Given the description of an element on the screen output the (x, y) to click on. 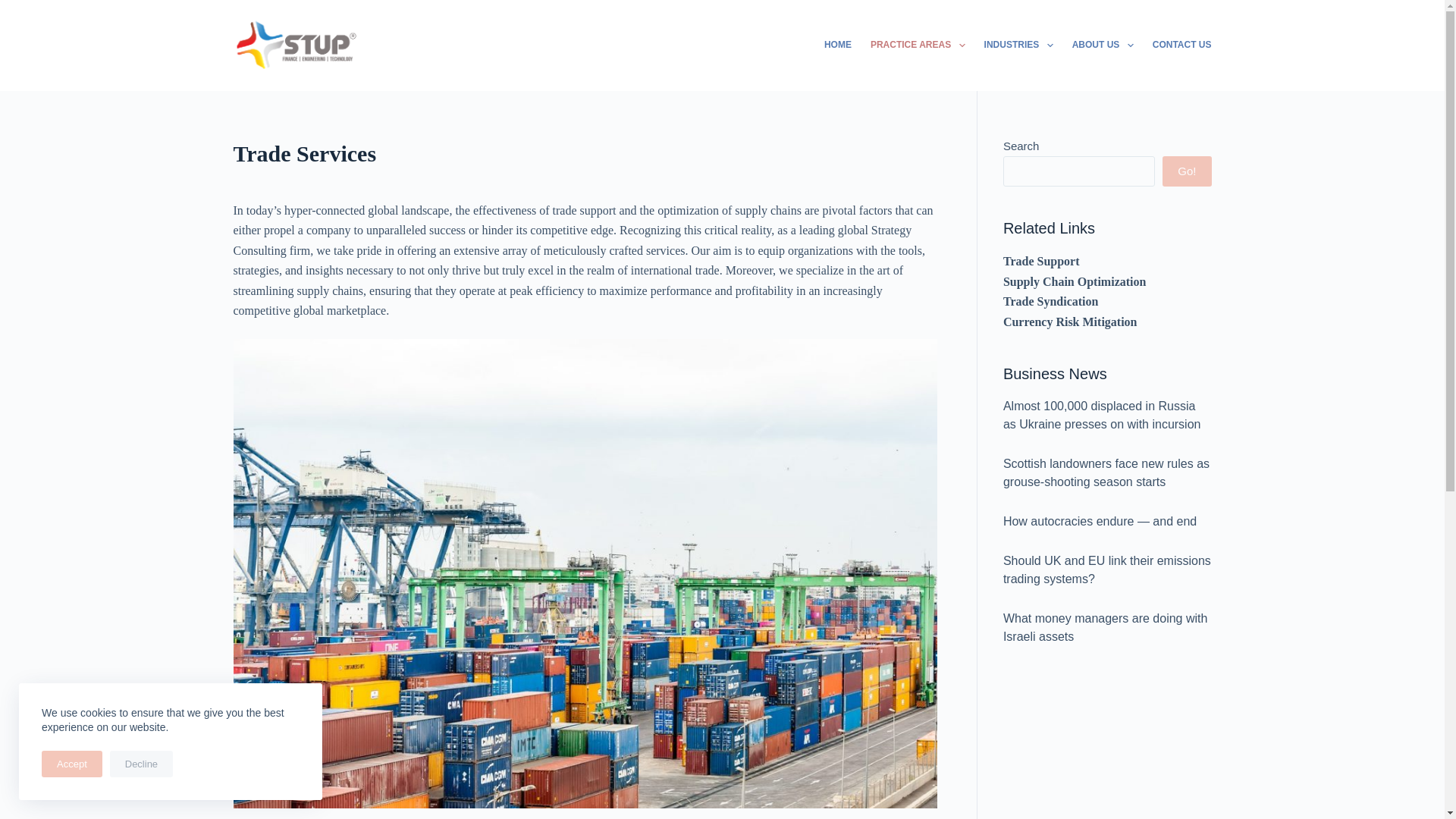
Skip to content (15, 7)
Should UK and EU link their emissions trading systems? (1107, 569)
What money managers are doing with Israeli assets (1105, 626)
Trade Services (584, 153)
